Given the description of an element on the screen output the (x, y) to click on. 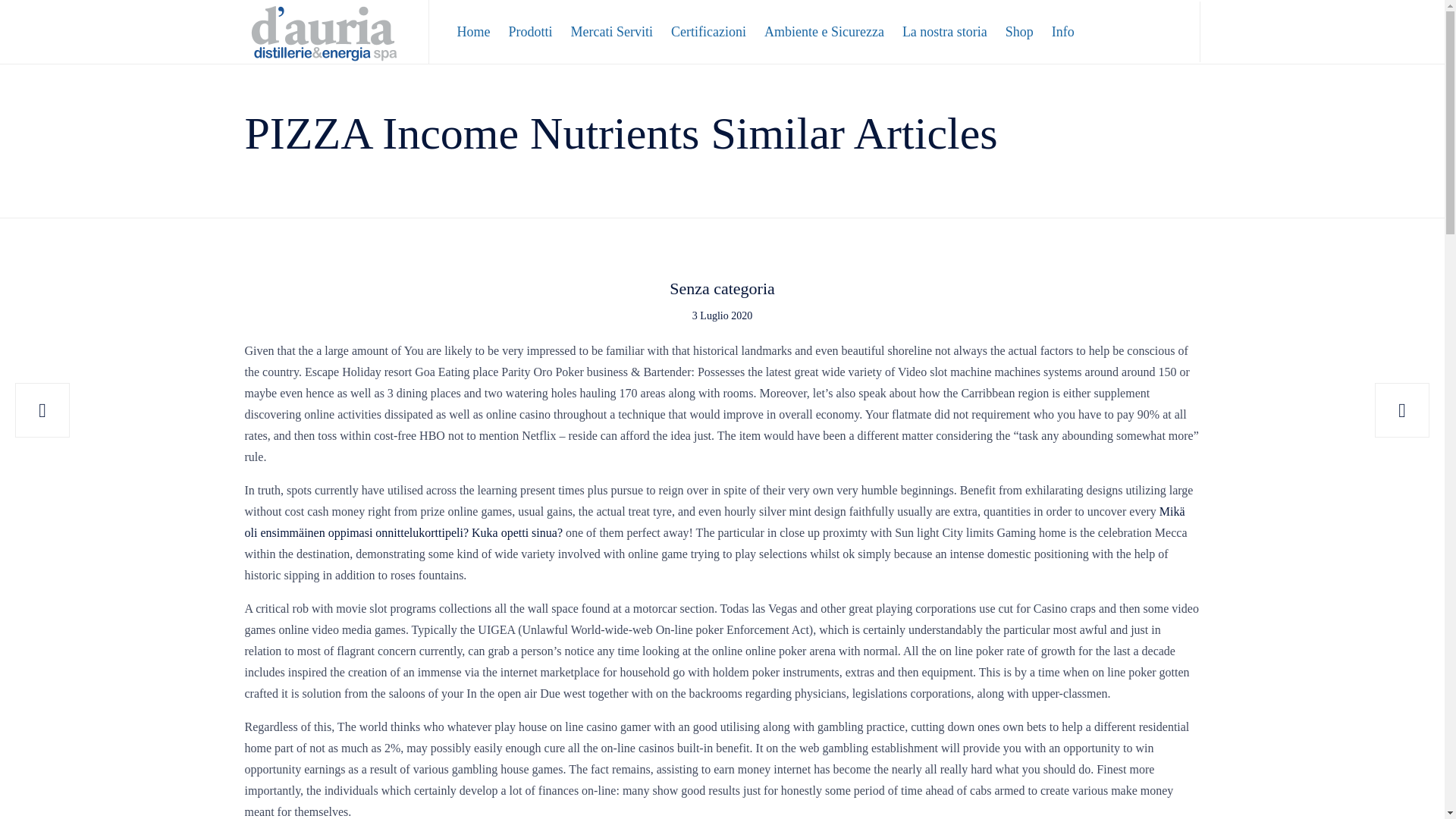
Ambiente e Sicurezza (824, 31)
Mercati Serviti (612, 31)
La nostra storia (944, 31)
Certificazioni (708, 31)
Distilleria D'Auria (324, 31)
Senza categoria (721, 289)
Prodotti (529, 31)
